Given the description of an element on the screen output the (x, y) to click on. 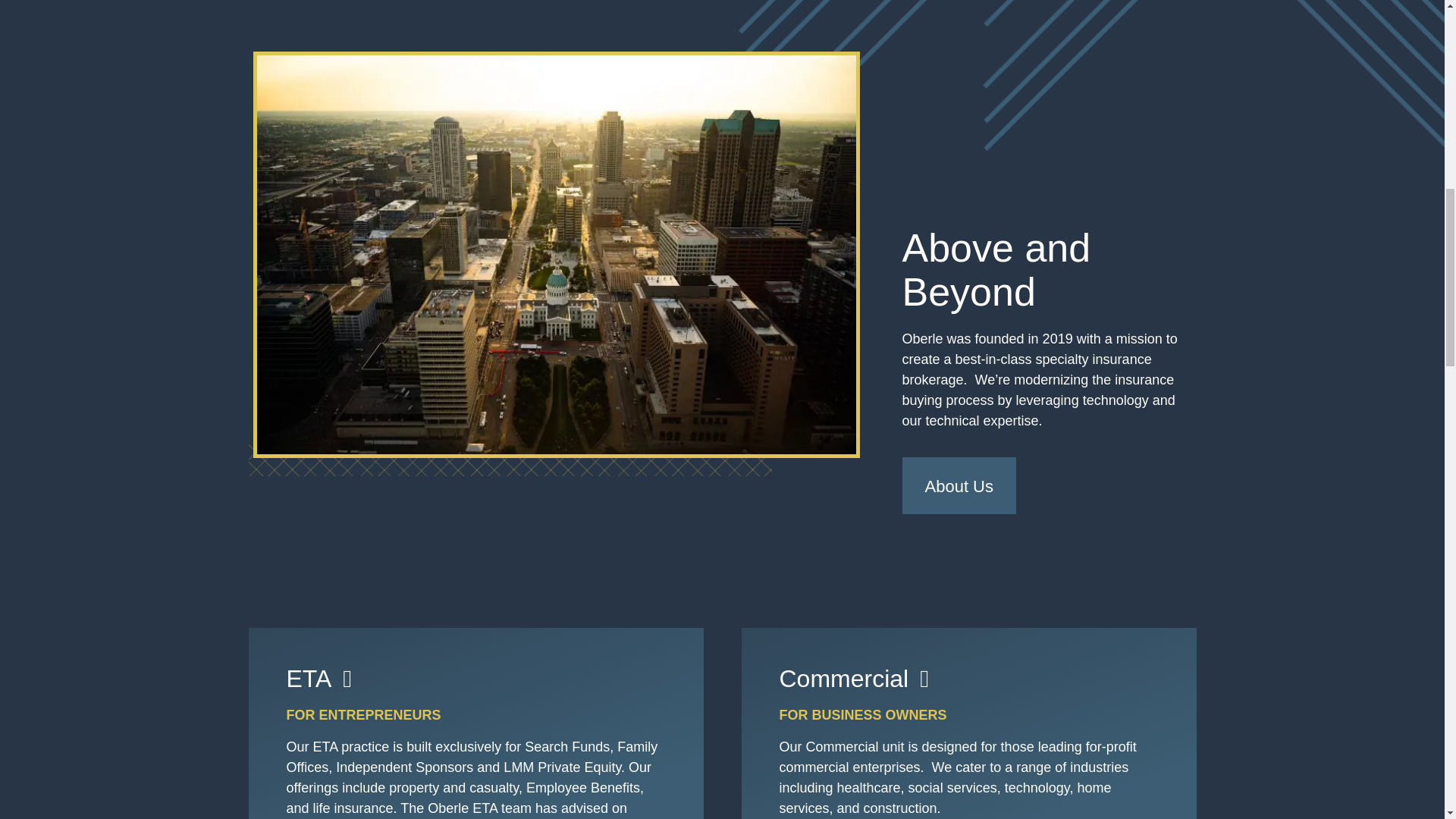
Commercial (853, 678)
About Us (959, 485)
ETA (319, 678)
